Given the description of an element on the screen output the (x, y) to click on. 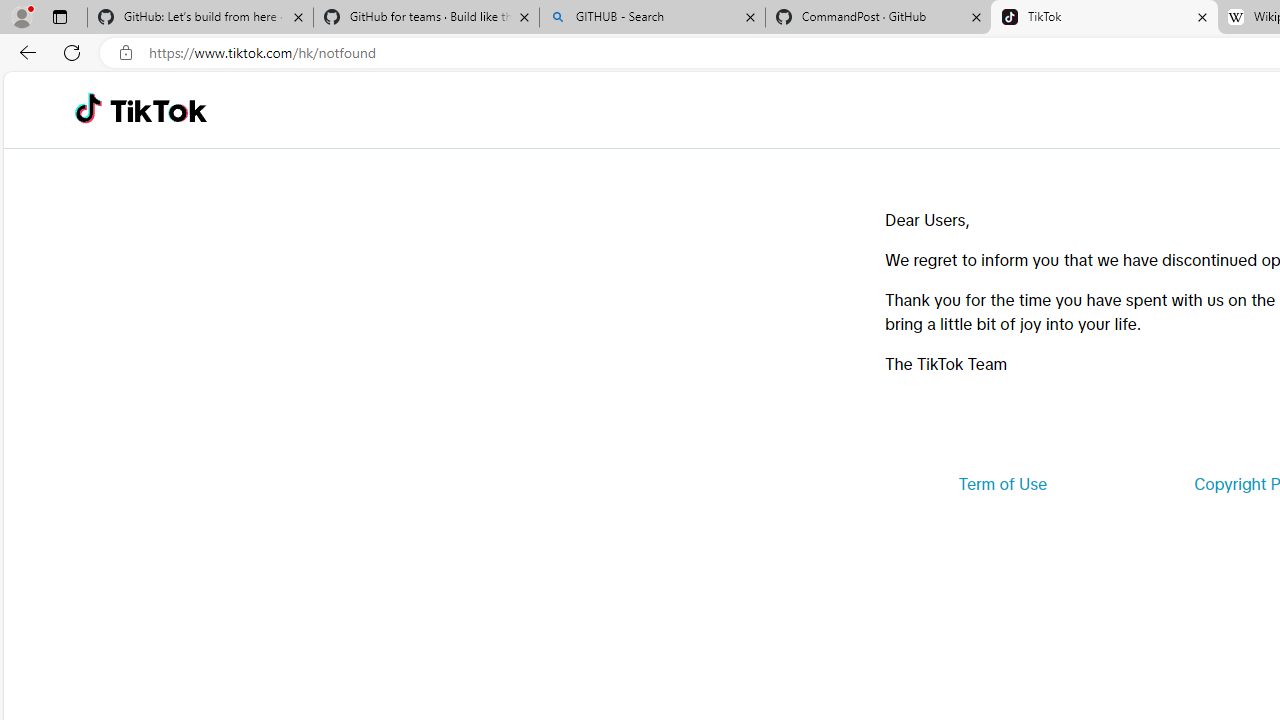
Term of Use (1002, 484)
TikTok (1104, 17)
TikTok (158, 110)
GITHUB - Search (652, 17)
